Given the description of an element on the screen output the (x, y) to click on. 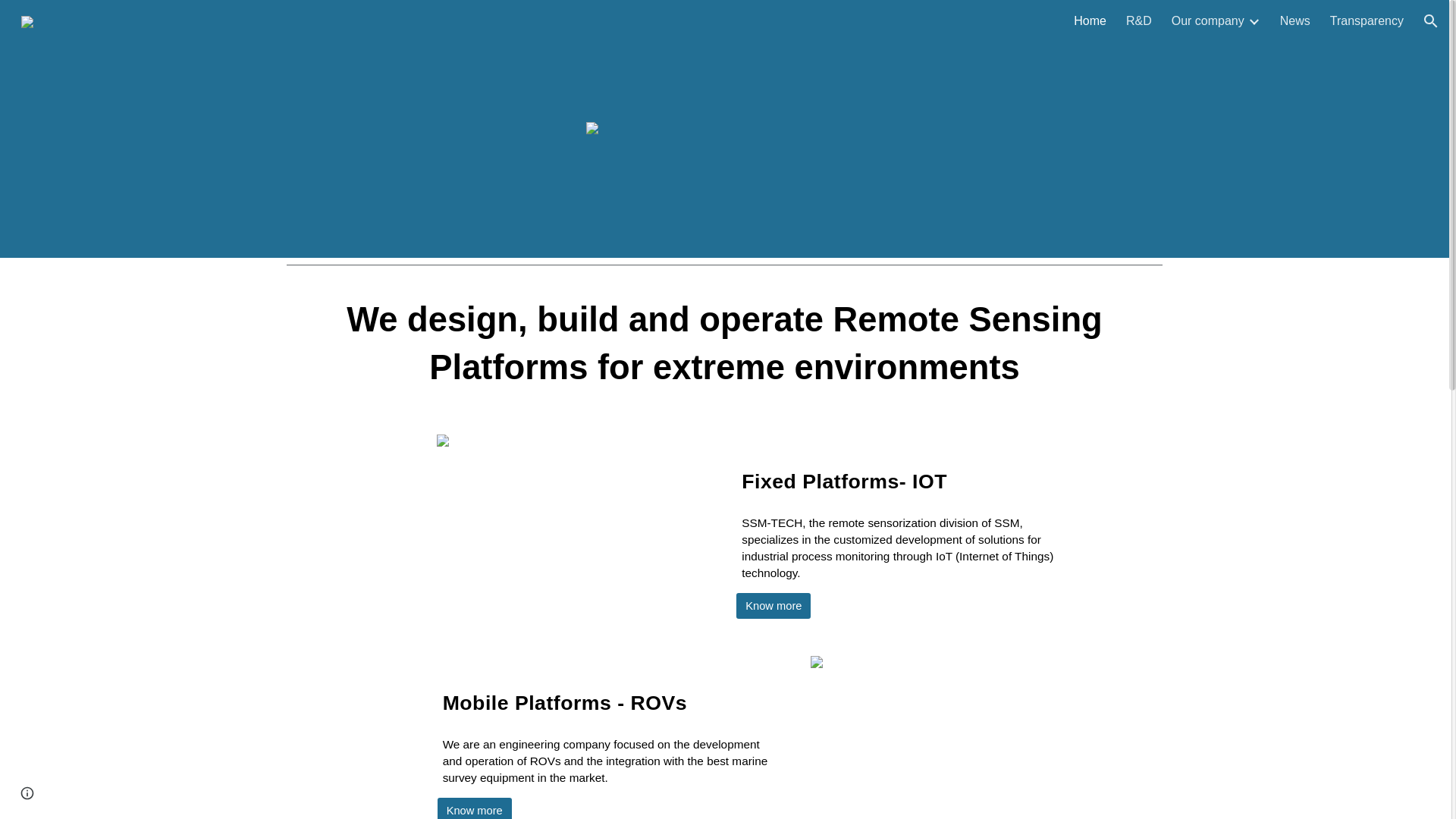
News (1294, 20)
Know more (475, 806)
Our company (1208, 20)
Home (1090, 20)
Transparency (1366, 20)
Know more (773, 605)
